Given the description of an element on the screen output the (x, y) to click on. 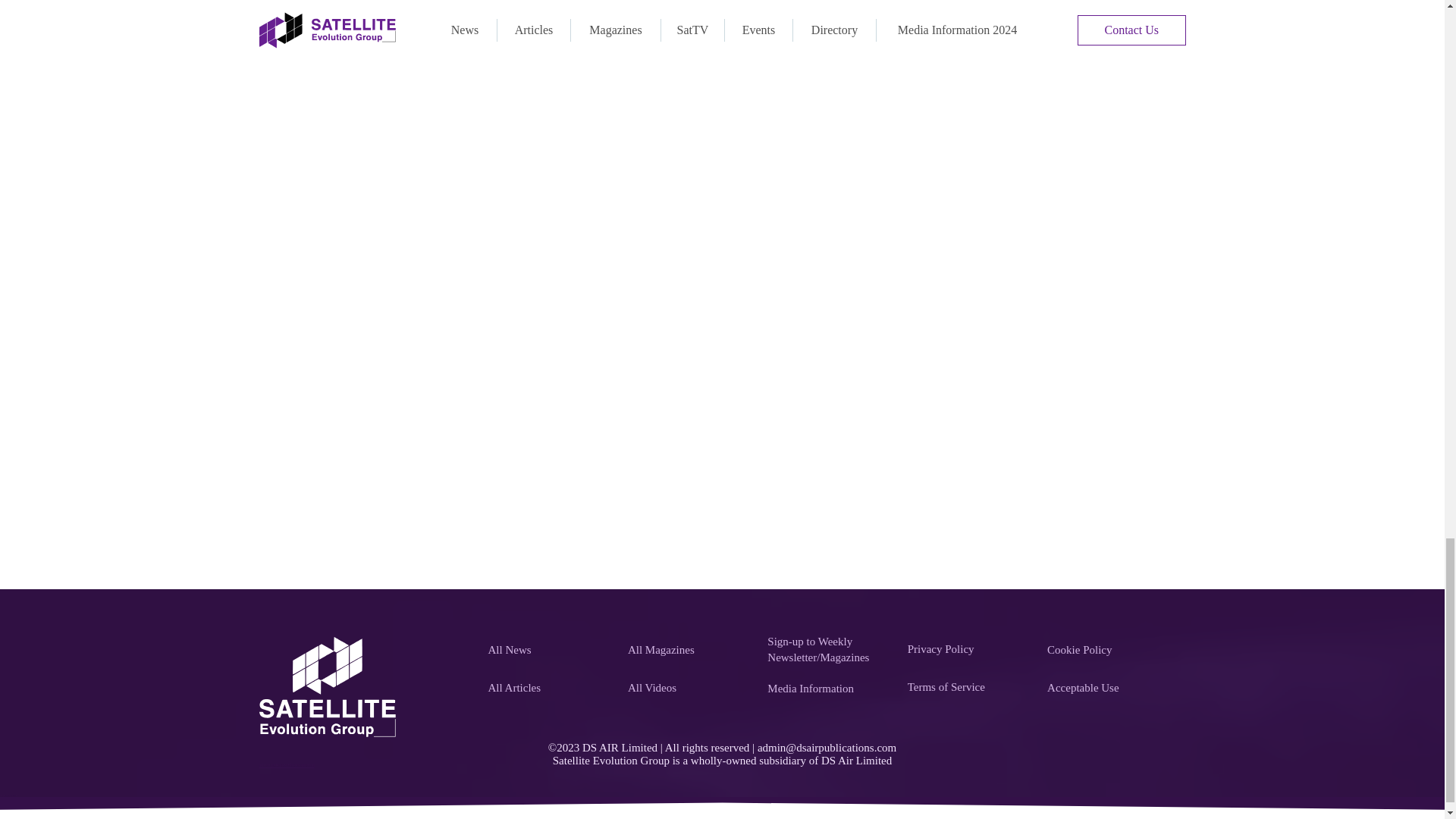
Terms of Service (968, 686)
Privacy Policy (968, 648)
All News (549, 650)
All Articles (549, 688)
Cookie Policy (1108, 650)
All Videos (689, 688)
All Magazines (689, 650)
Media Information (828, 688)
Acceptable Use (1108, 688)
